Given the description of an element on the screen output the (x, y) to click on. 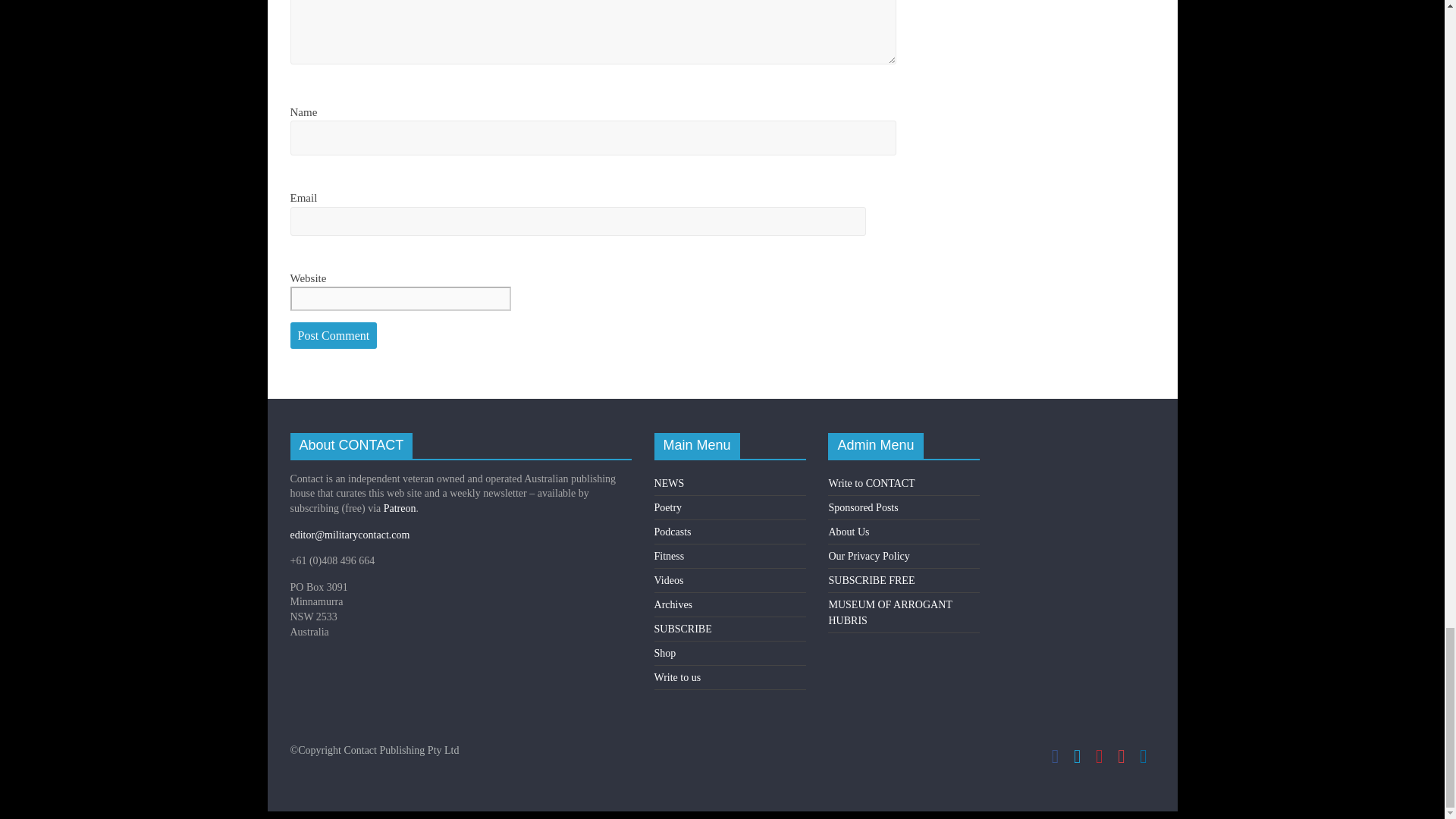
Post Comment (333, 335)
